Given the description of an element on the screen output the (x, y) to click on. 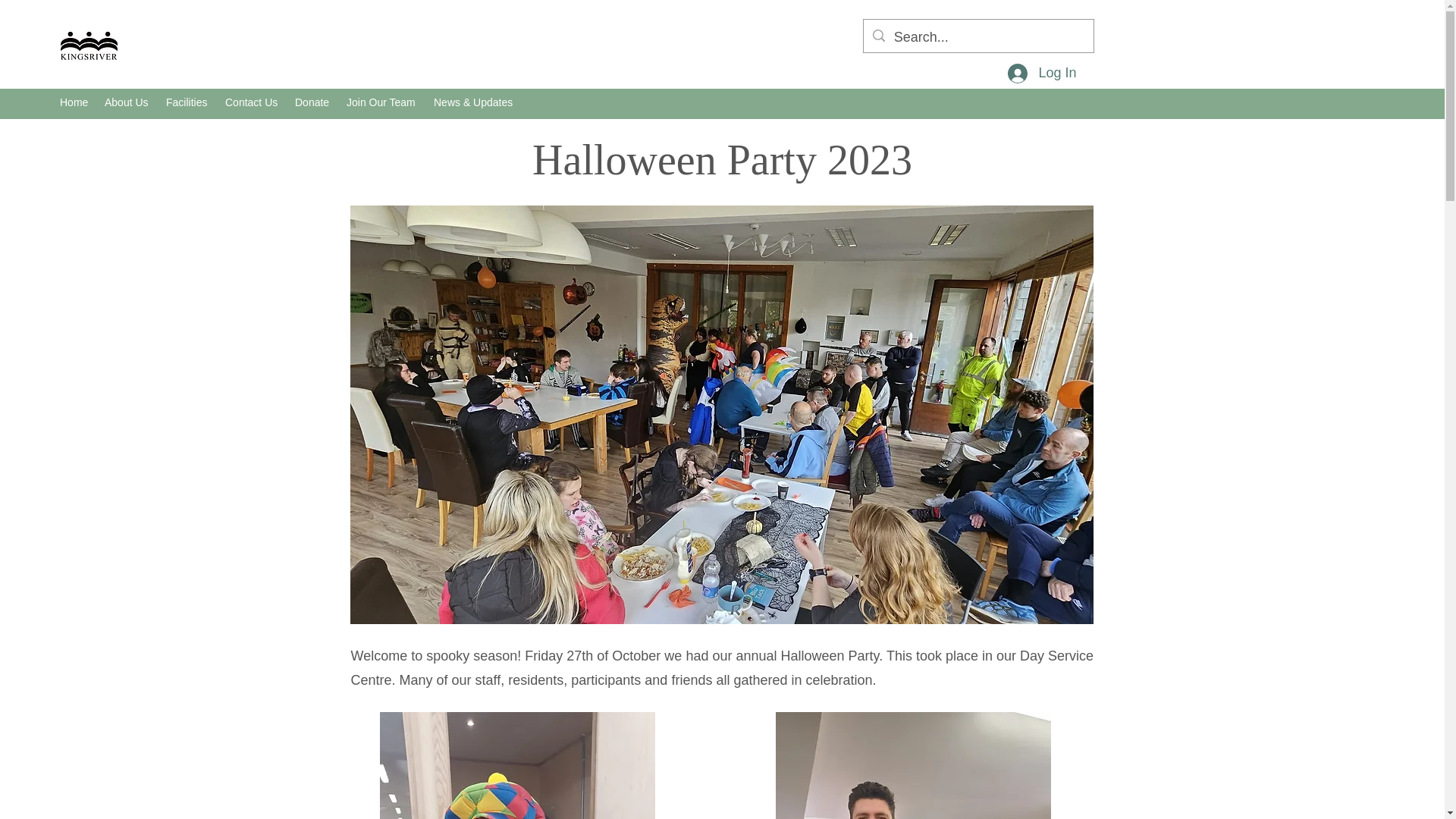
Join Our Team (382, 101)
Donate (312, 101)
About Us (127, 101)
Contact Us (251, 101)
Home (74, 101)
Facilities (187, 101)
Log In (1041, 73)
